Given the description of an element on the screen output the (x, y) to click on. 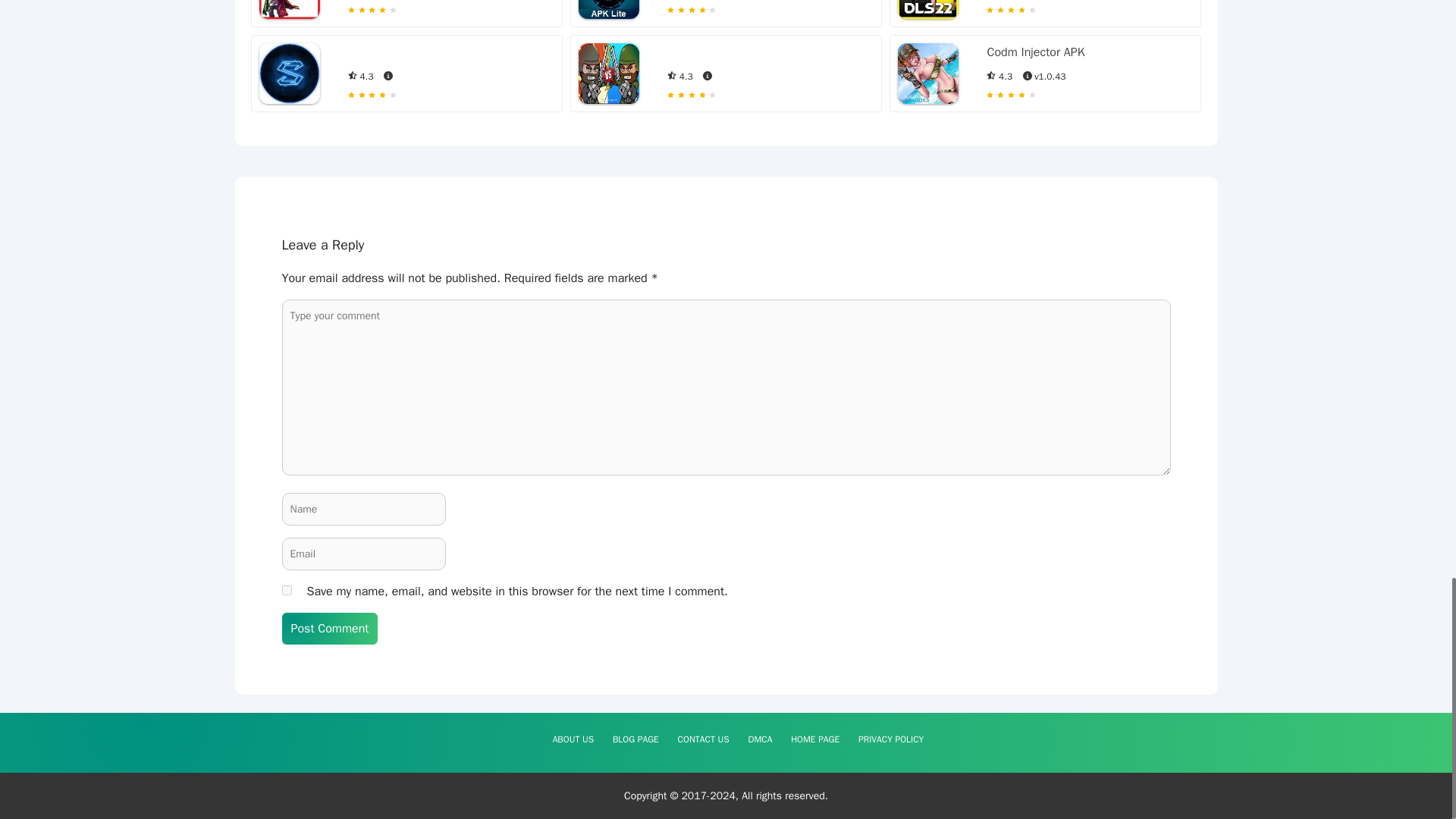
Post Comment (330, 628)
yes (287, 590)
Post Comment (330, 628)
Codm Injector APK (1035, 52)
ABOUT US (572, 738)
